Given the description of an element on the screen output the (x, y) to click on. 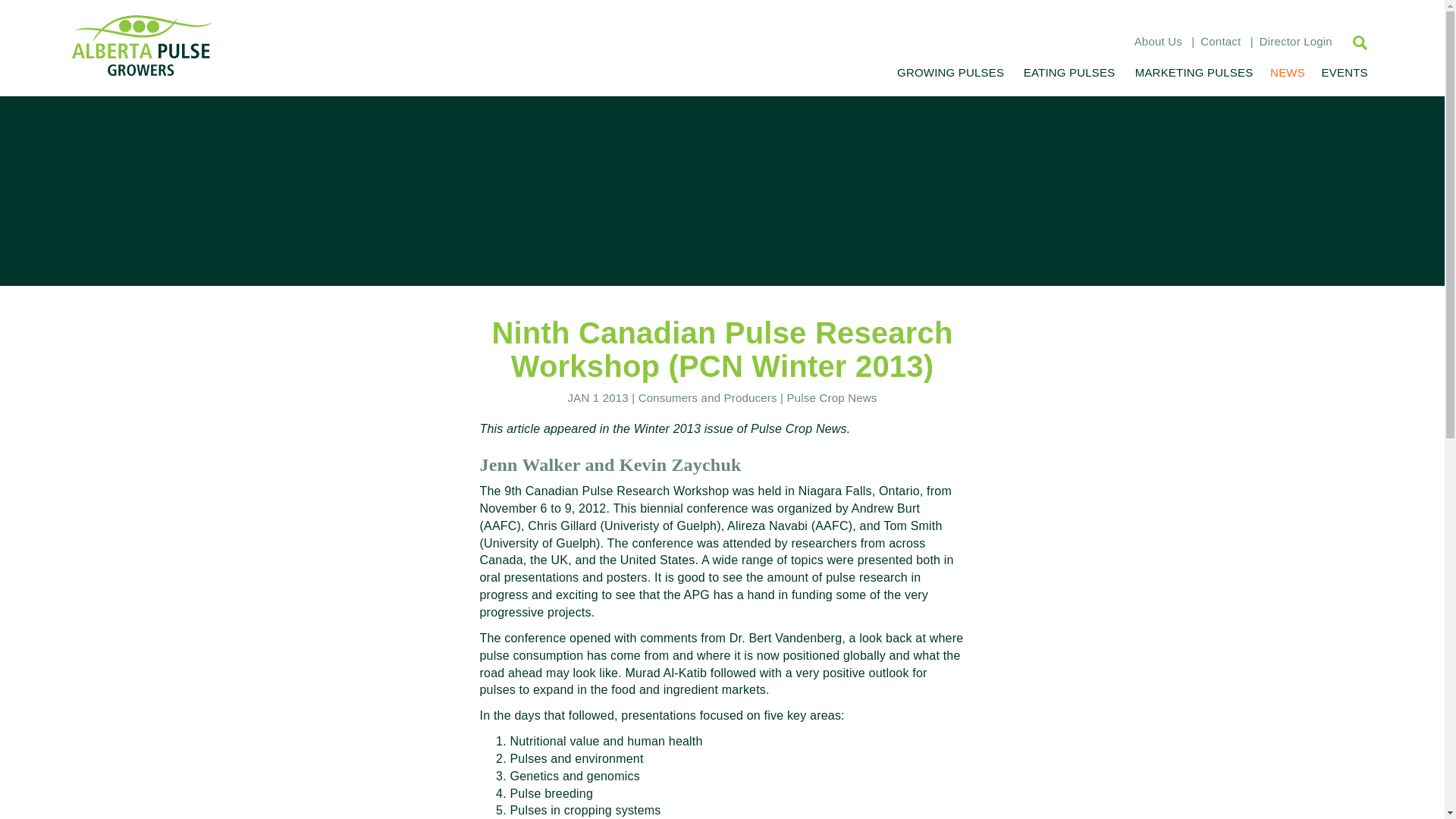
About Us (1158, 41)
Contact (1219, 41)
SEARCH (1352, 41)
NEWS (1286, 72)
GROWING PULSES (950, 72)
EATING PULSES (1068, 72)
Director Login (1295, 41)
EVENTS (1342, 72)
MARKETING PULSES (1193, 72)
